Given the description of an element on the screen output the (x, y) to click on. 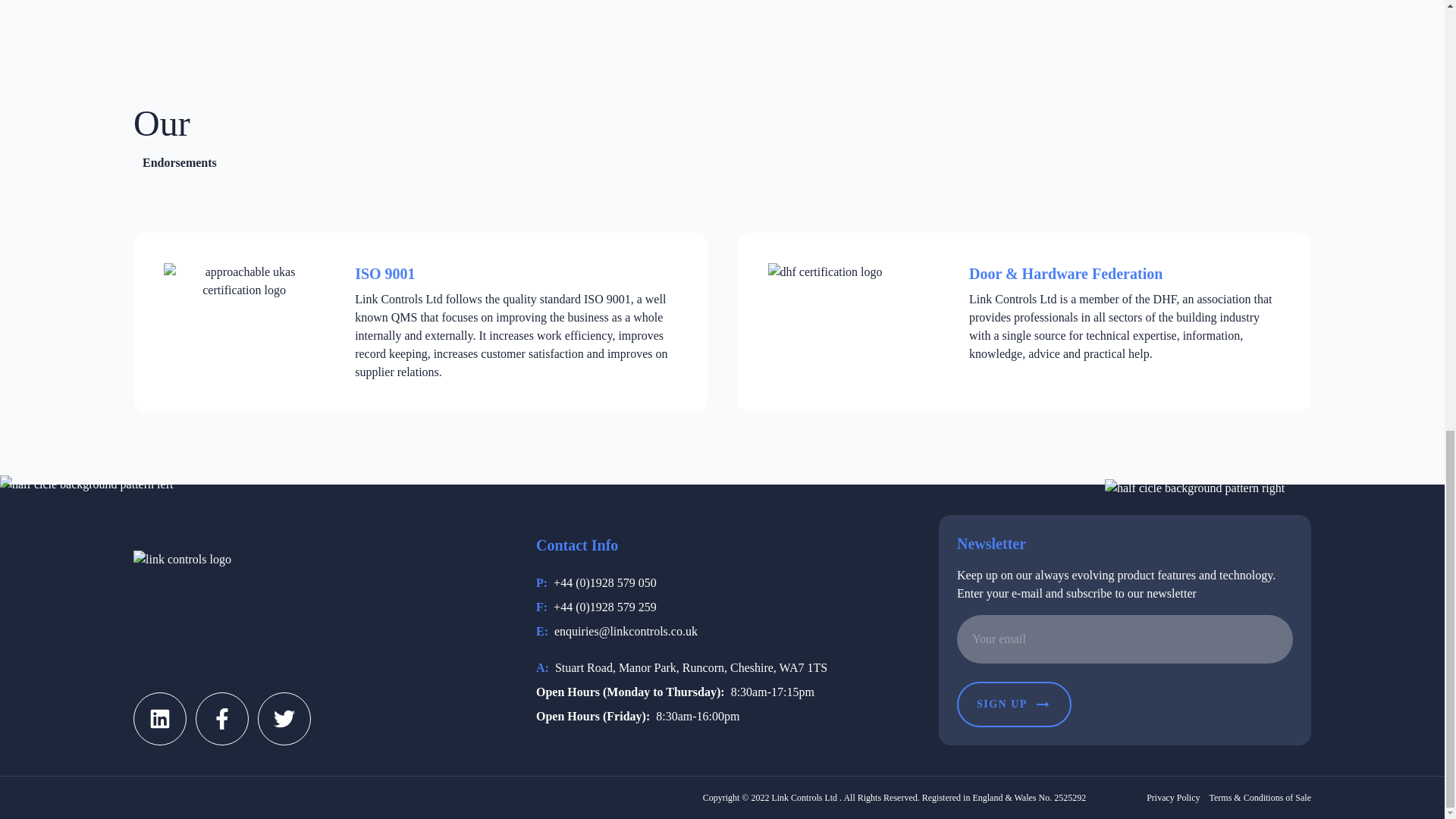
SIGN UP (1013, 704)
Privacy Policy (1173, 797)
